Given the description of an element on the screen output the (x, y) to click on. 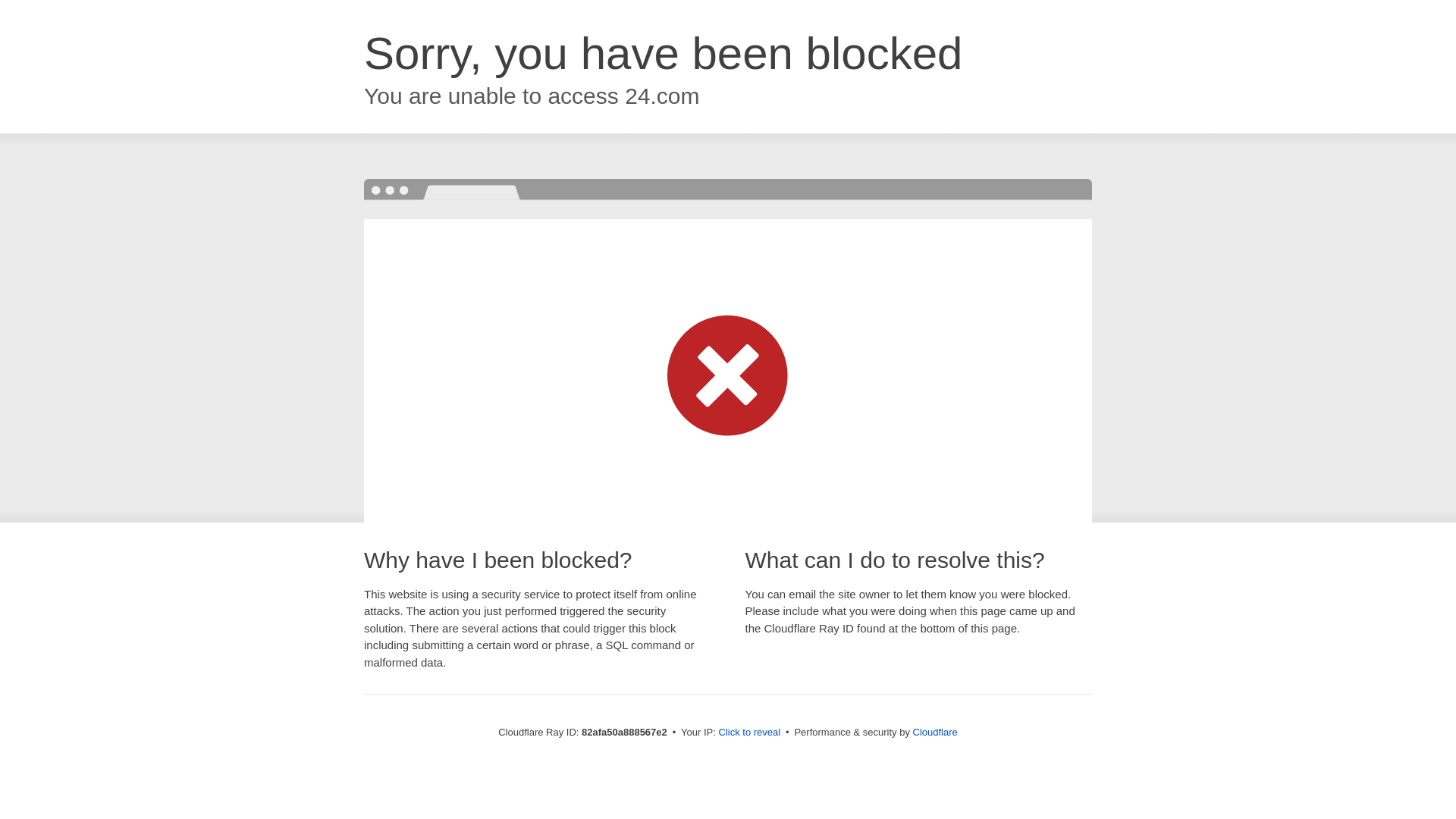
Click to reveal Element type: text (749, 732)
Cloudflare Element type: text (935, 731)
